Given the description of an element on the screen output the (x, y) to click on. 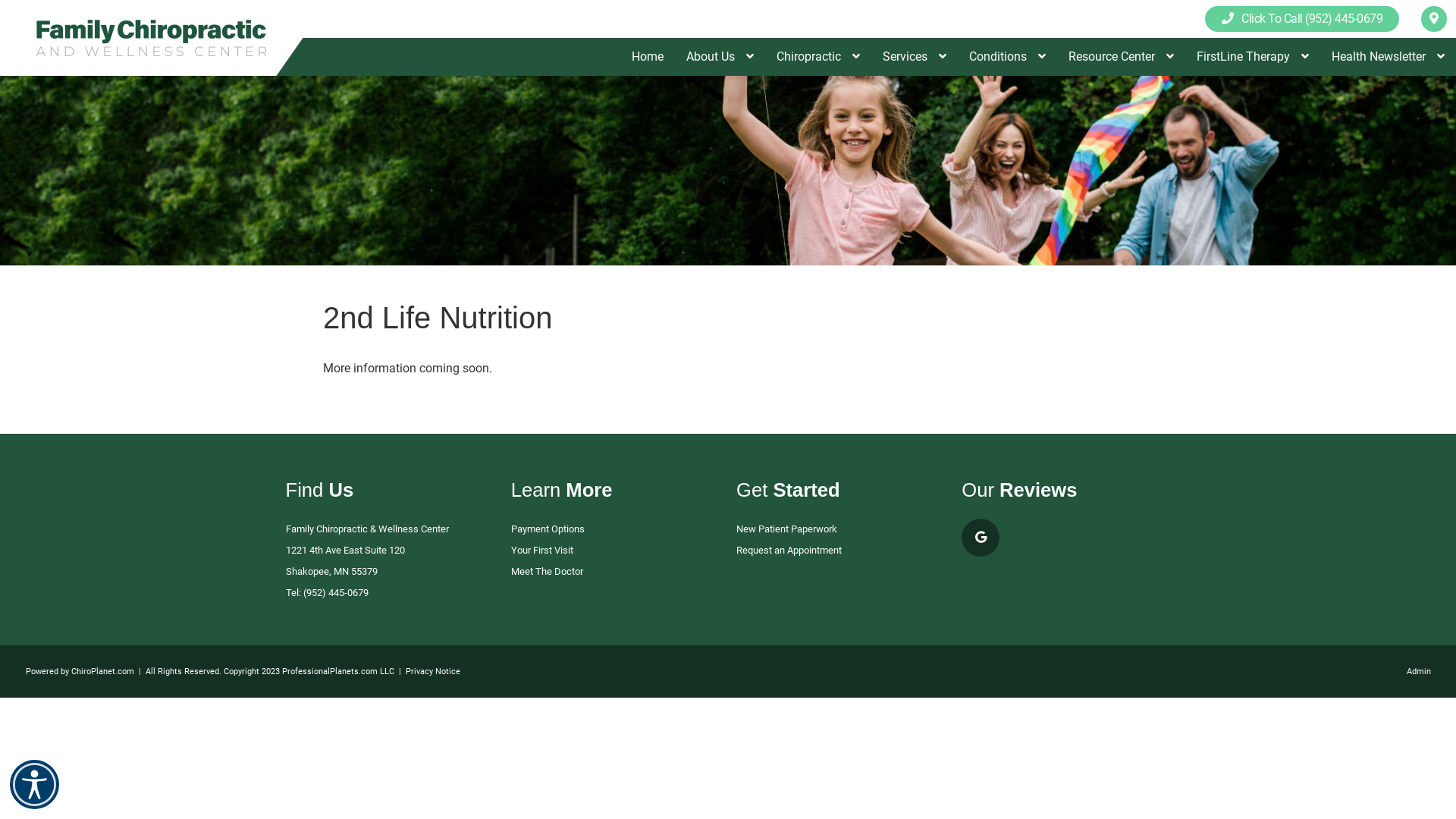
Request an Appointment Element type: text (788, 549)
Admin Element type: text (1418, 671)
Privacy Notice Element type: text (432, 671)
Meet The Doctor Element type: text (547, 571)
New Patient Paperwork Element type: text (786, 528)
(952) 445-0679 Element type: text (335, 592)
Logo Element type: text (151, 37)
Resource Center Element type: text (1121, 56)
Services Element type: text (914, 56)
FirstLine Therapy Element type: text (1252, 56)
Your First Visit Element type: text (542, 549)
   Click To Call (952) 445-0679 Element type: text (1301, 18)
Home Element type: text (647, 56)
Conditions Element type: text (1007, 56)
About Us Element type: text (719, 56)
Payment Options Element type: text (547, 528)
Chiropractic Element type: text (818, 56)
